Given the description of an element on the screen output the (x, y) to click on. 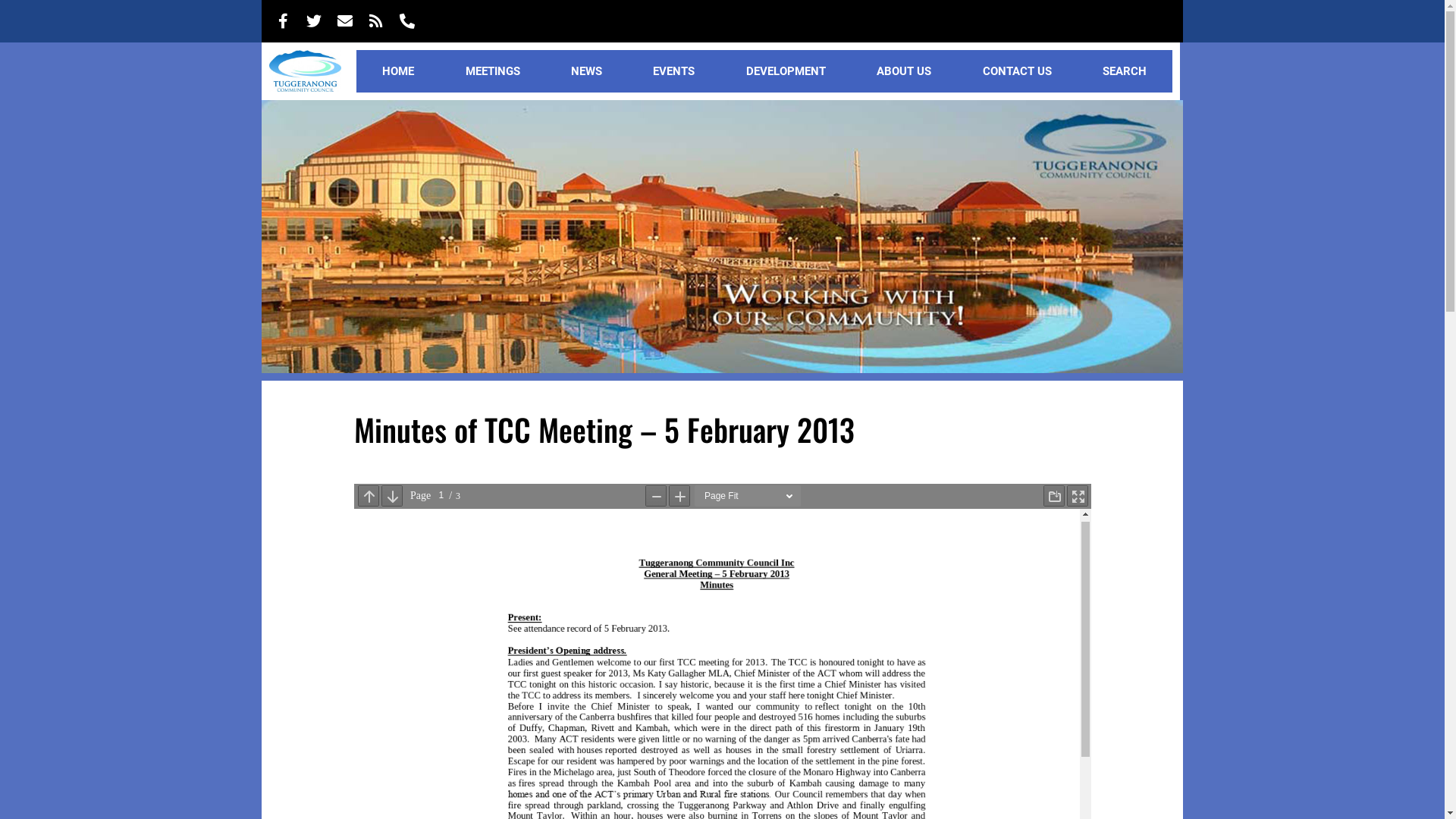
EVENTS Element type: text (673, 71)
SEARCH Element type: text (1123, 71)
DEVELOPMENT Element type: text (785, 71)
ABOUT US Element type: text (904, 71)
HOME Element type: text (397, 71)
CONTACT US Element type: text (1016, 71)
NEWS Element type: text (586, 71)
MEETINGS Element type: text (492, 71)
